Given the description of an element on the screen output the (x, y) to click on. 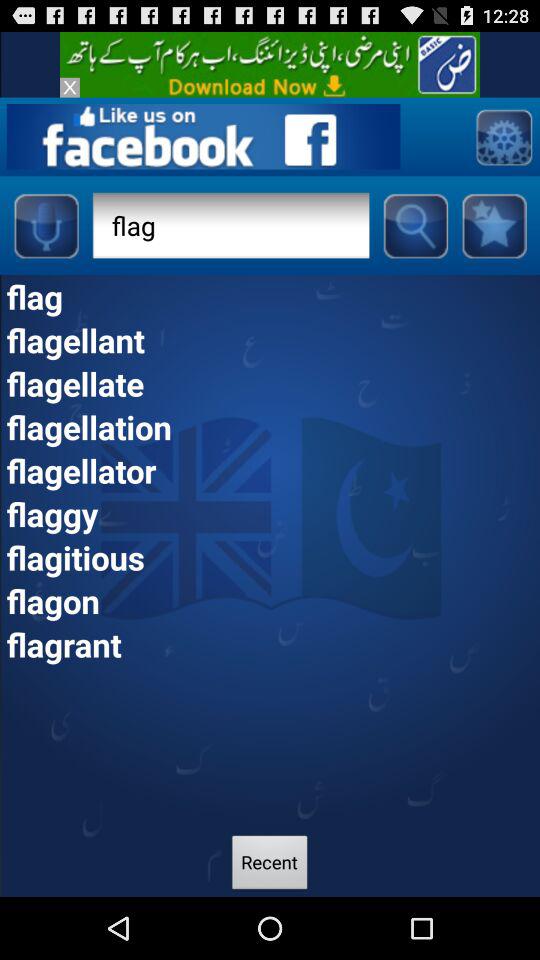
advertisement (270, 64)
